Given the description of an element on the screen output the (x, y) to click on. 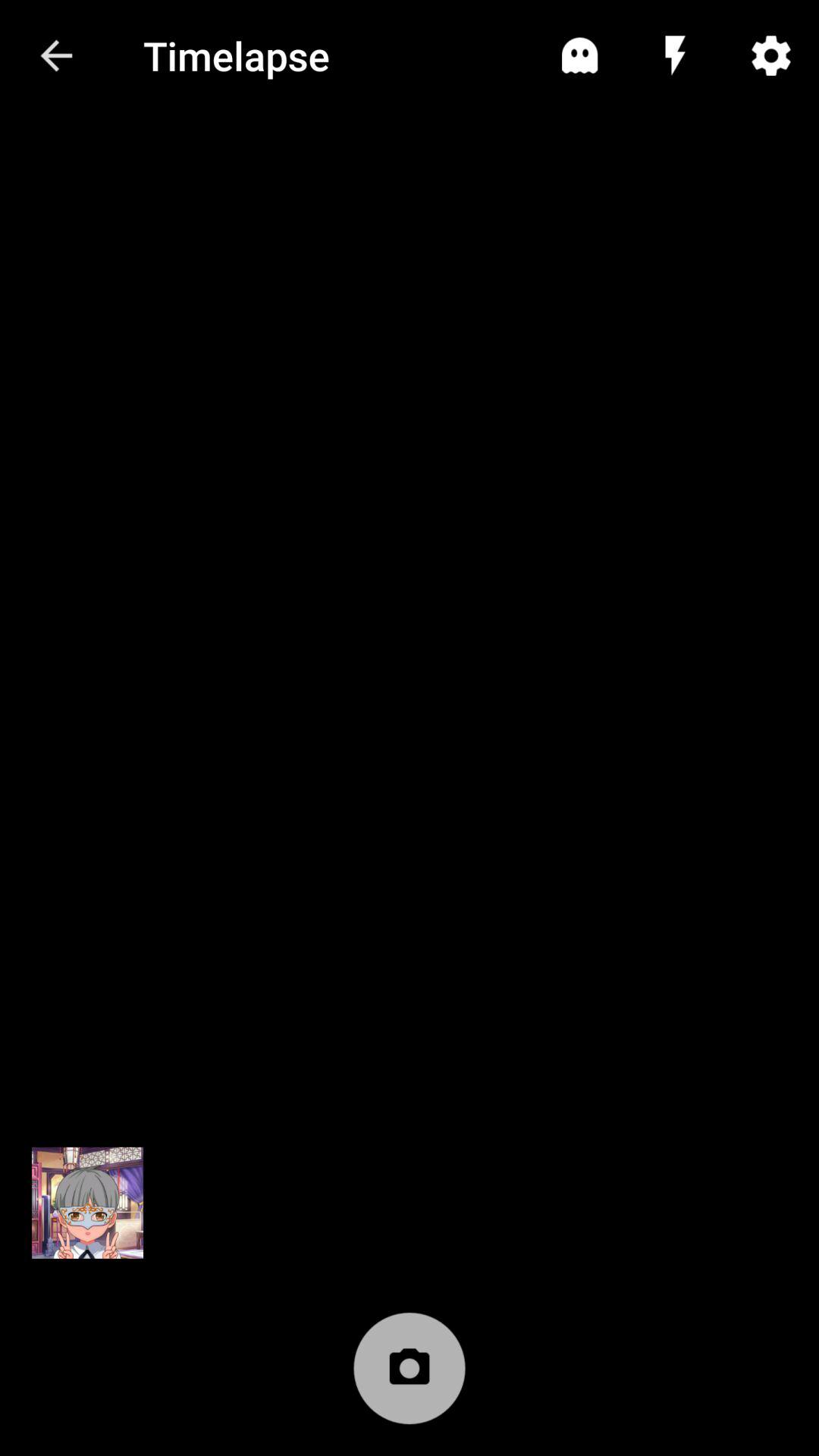
turn off the item below timelapse icon (409, 1376)
